Given the description of an element on the screen output the (x, y) to click on. 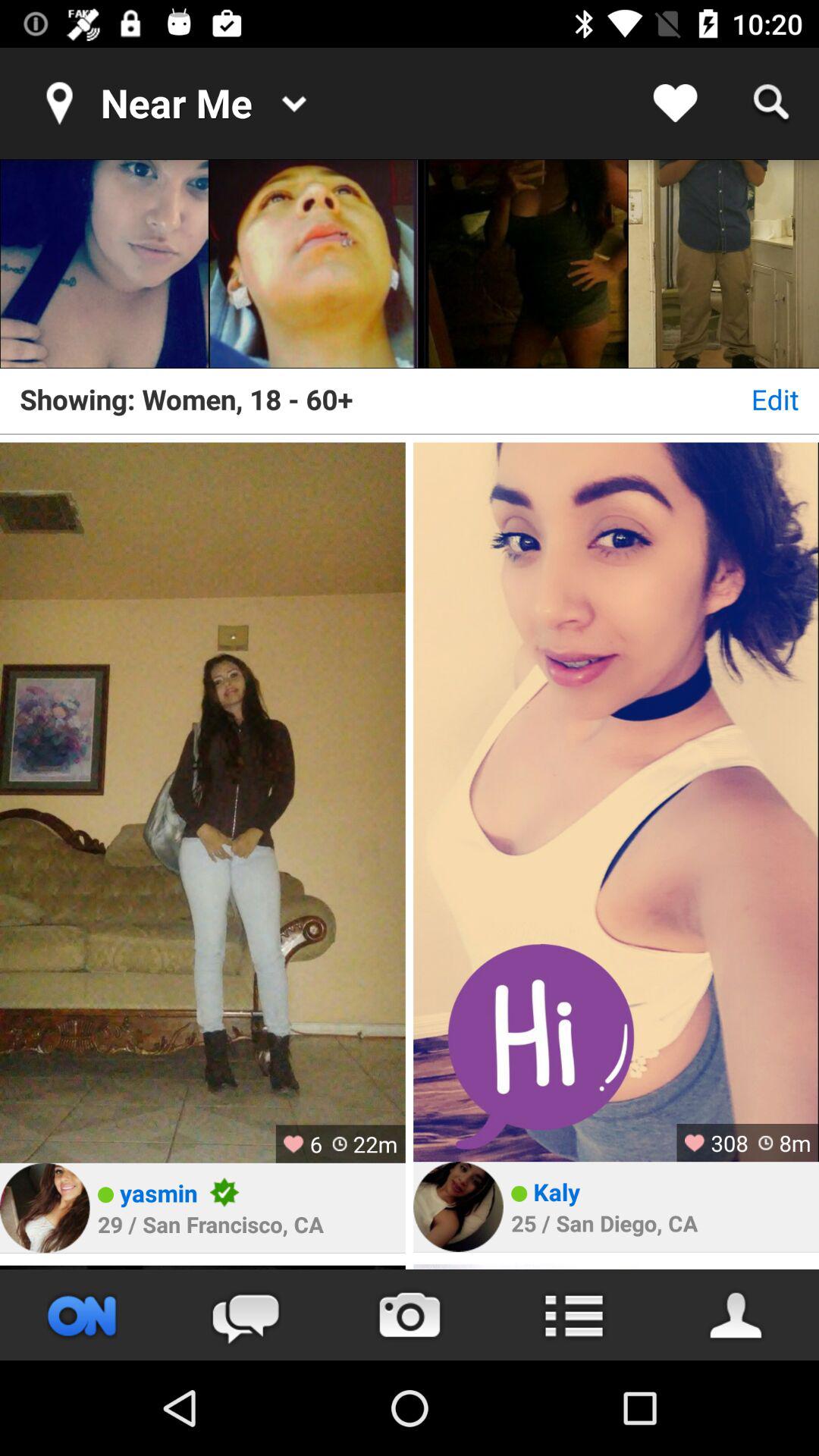
toggle a select option (522, 263)
